Given the description of an element on the screen output the (x, y) to click on. 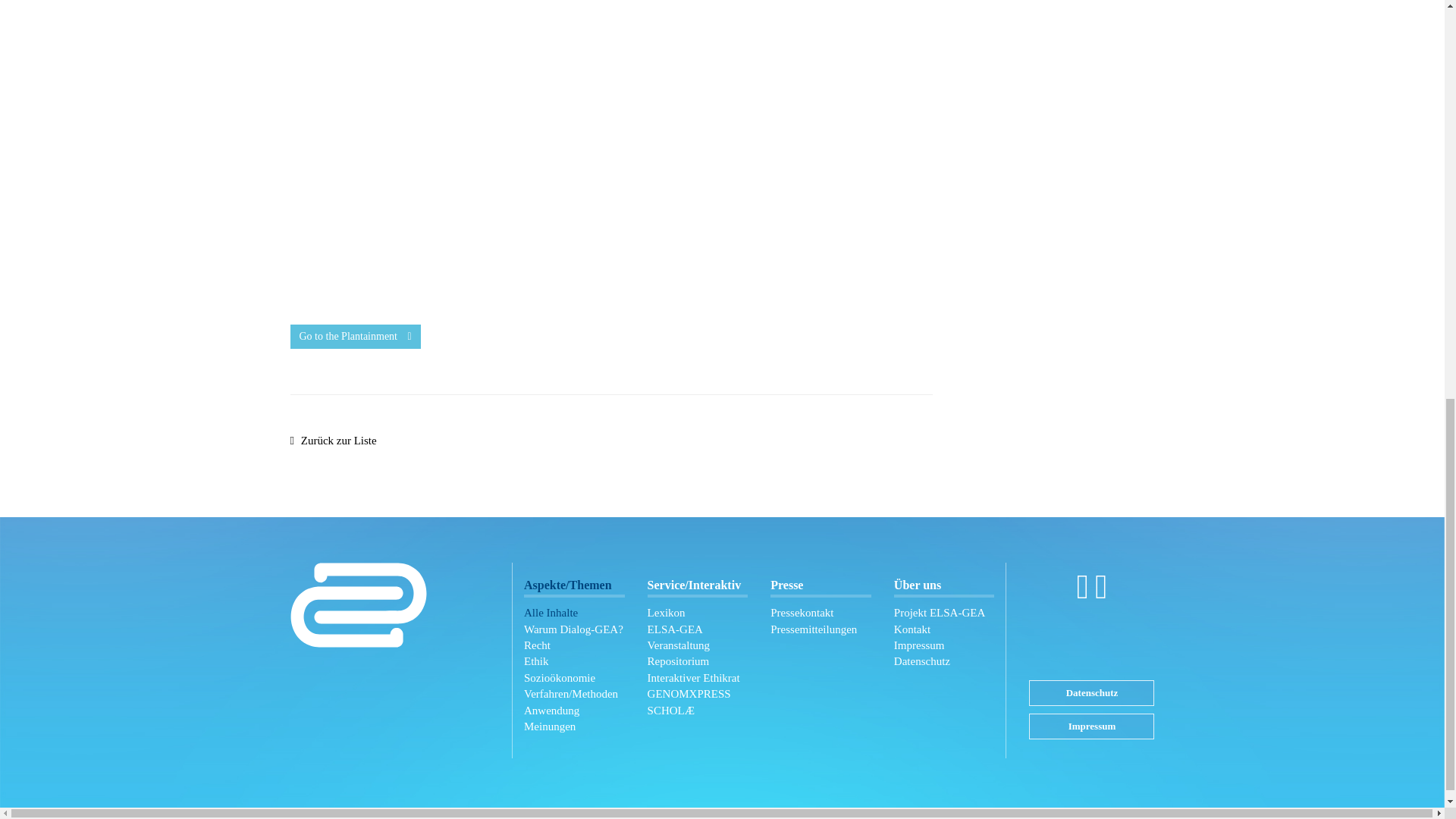
Go to the Plantainment (354, 336)
Alle Inhalte (574, 612)
Warum Dialog-GEA? (574, 629)
